Given the description of an element on the screen output the (x, y) to click on. 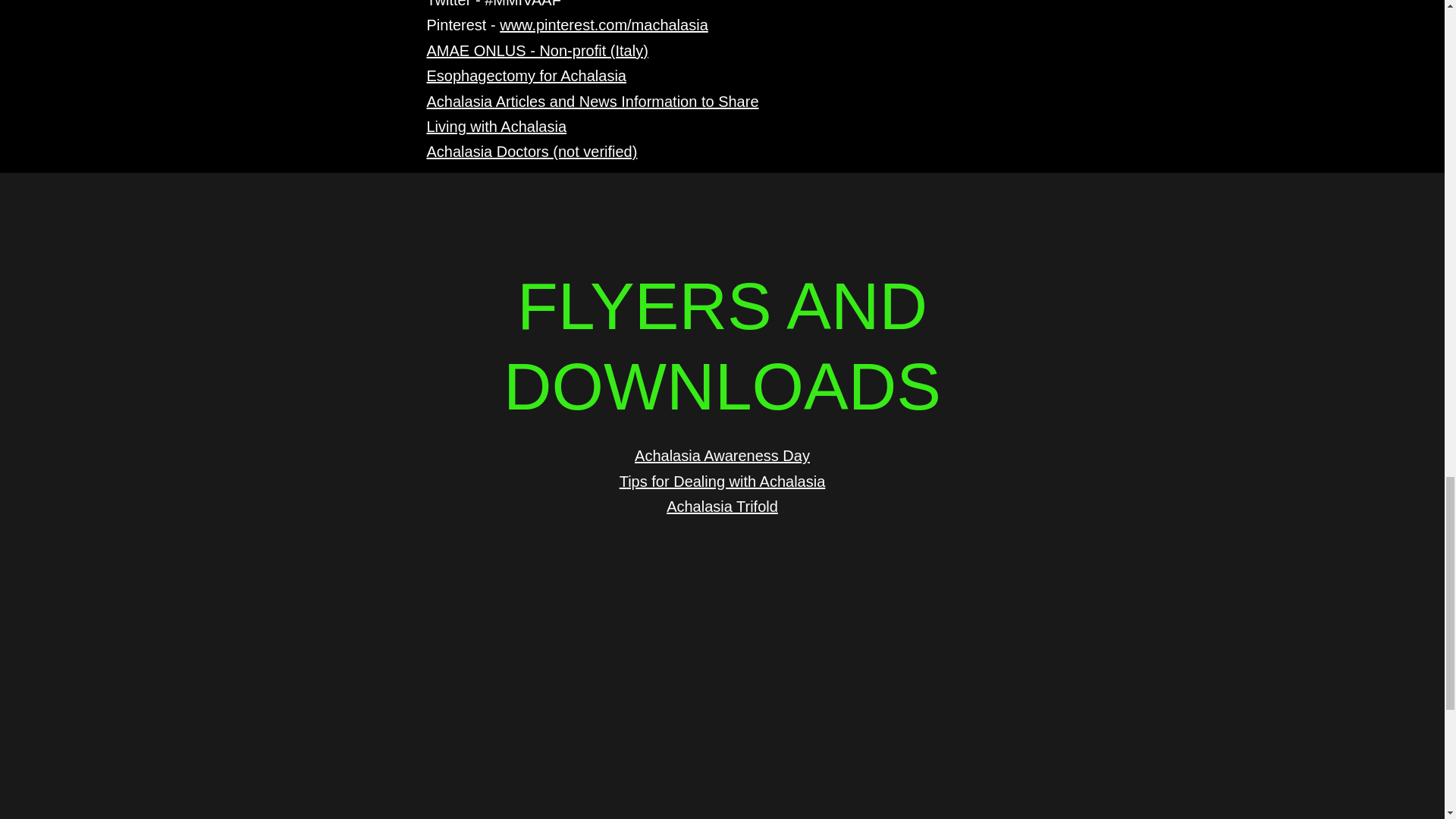
Achalasia Awareness Day (721, 455)
Achalasia Articles and News Information to Share (592, 101)
Tips for Dealing with Achalasia (722, 481)
Living with Achalasia (496, 126)
Achalasia Trifold (721, 506)
Esophagectomy for Achalasia (526, 75)
